Given the description of an element on the screen output the (x, y) to click on. 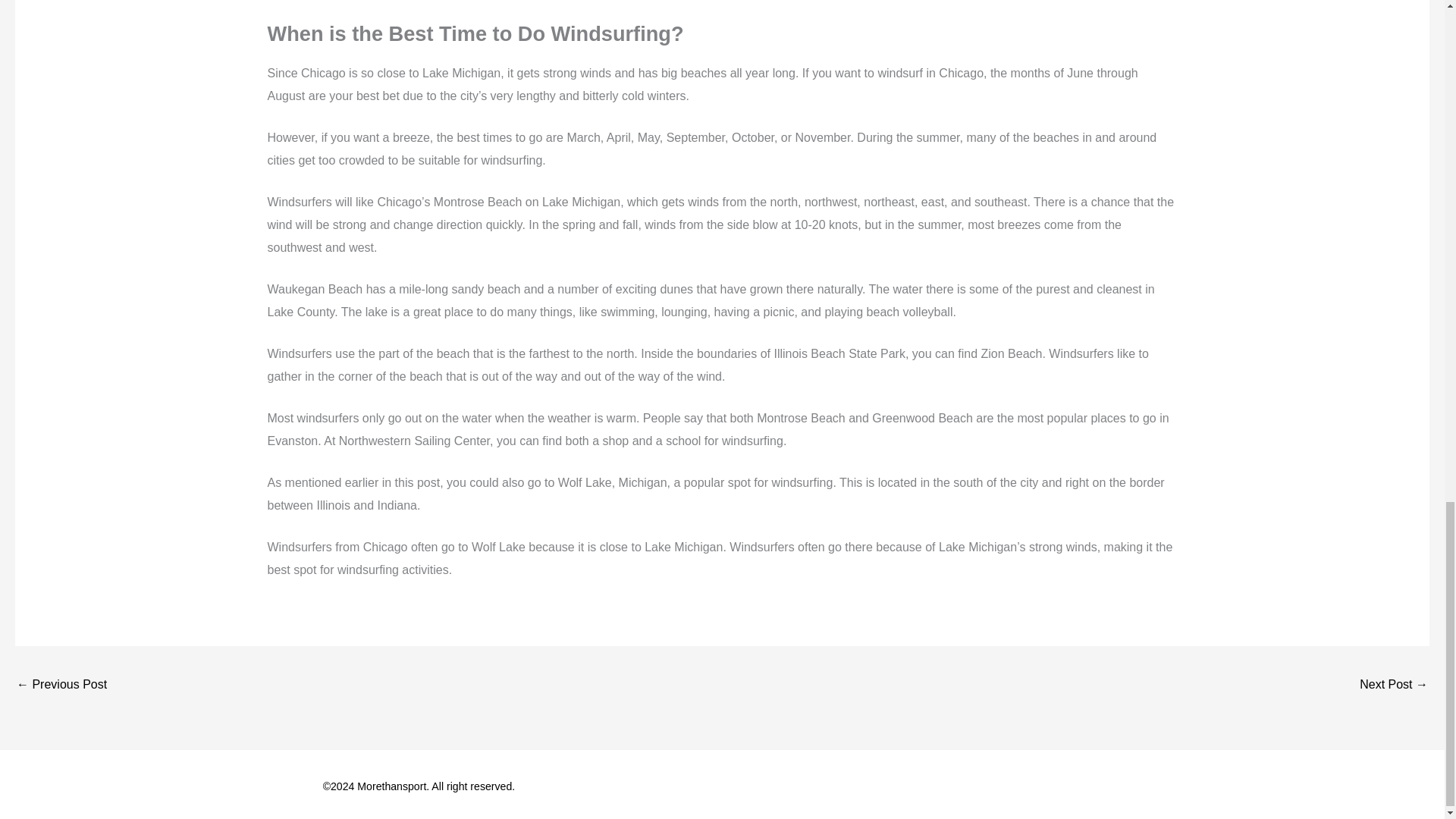
All About UFC Cages You Wanted To Know (1393, 685)
Can You Windsurf Alone? (61, 685)
